Given the description of an element on the screen output the (x, y) to click on. 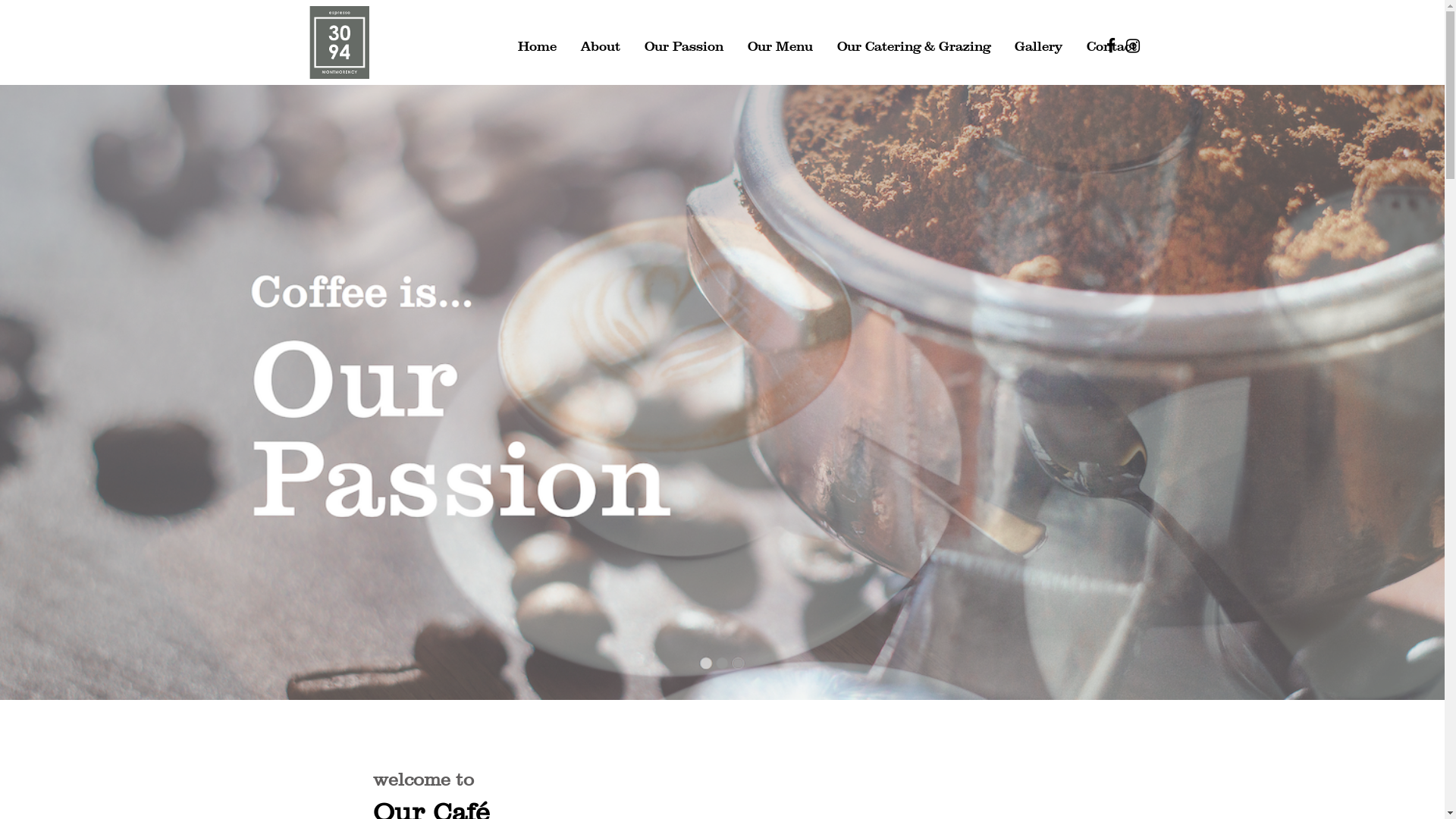
Gallery Element type: text (1038, 44)
Our Catering & Grazing Element type: text (913, 44)
Contact Element type: text (1111, 44)
Our Passion Element type: text (683, 44)
Home Element type: text (536, 44)
Our Menu Element type: text (780, 44)
About Element type: text (600, 44)
